Given the description of an element on the screen output the (x, y) to click on. 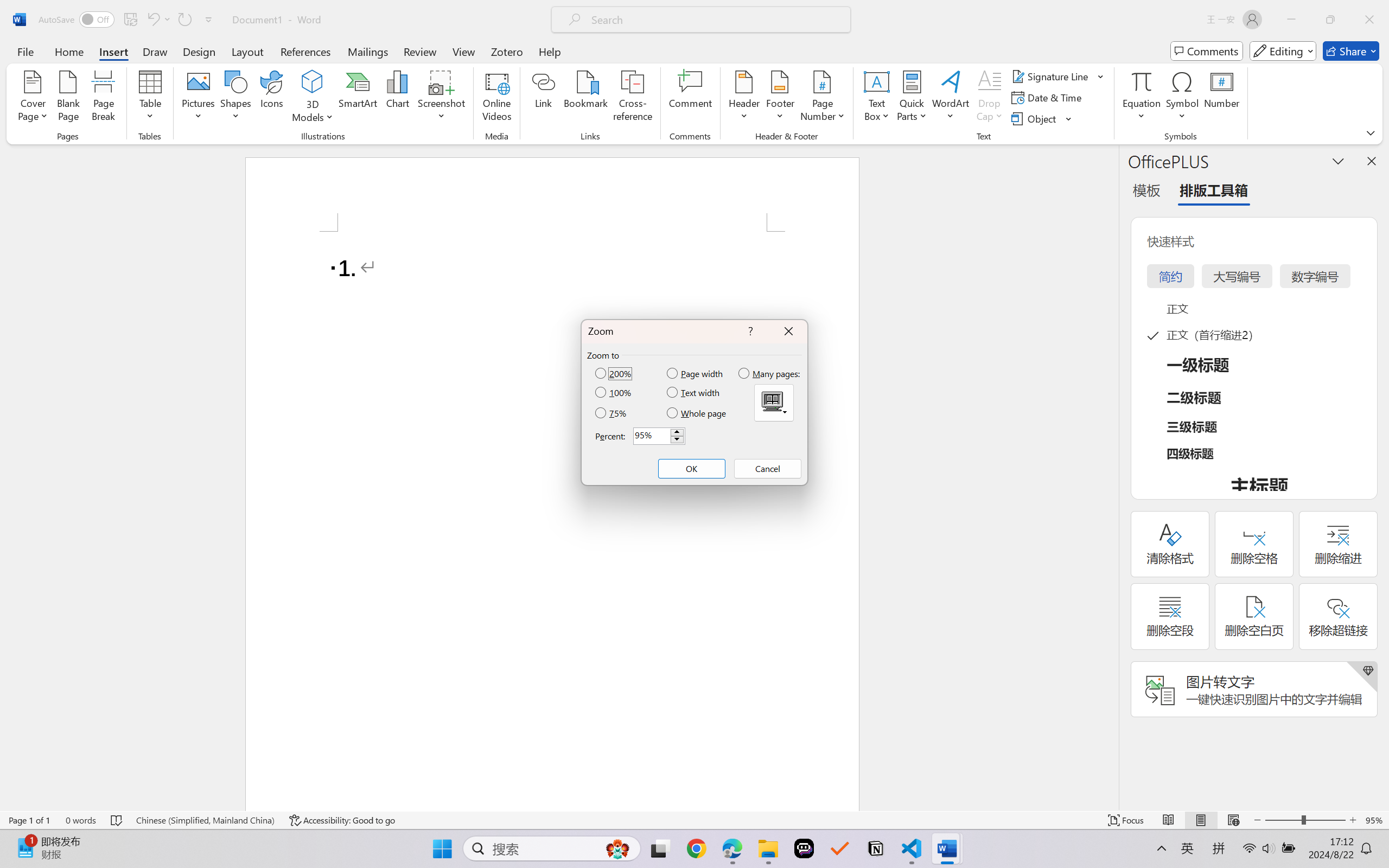
Number... (1221, 97)
Chart... (396, 97)
200% (614, 373)
Equation (1141, 81)
Google Chrome (696, 848)
Page Number (822, 97)
